Given the description of an element on the screen output the (x, y) to click on. 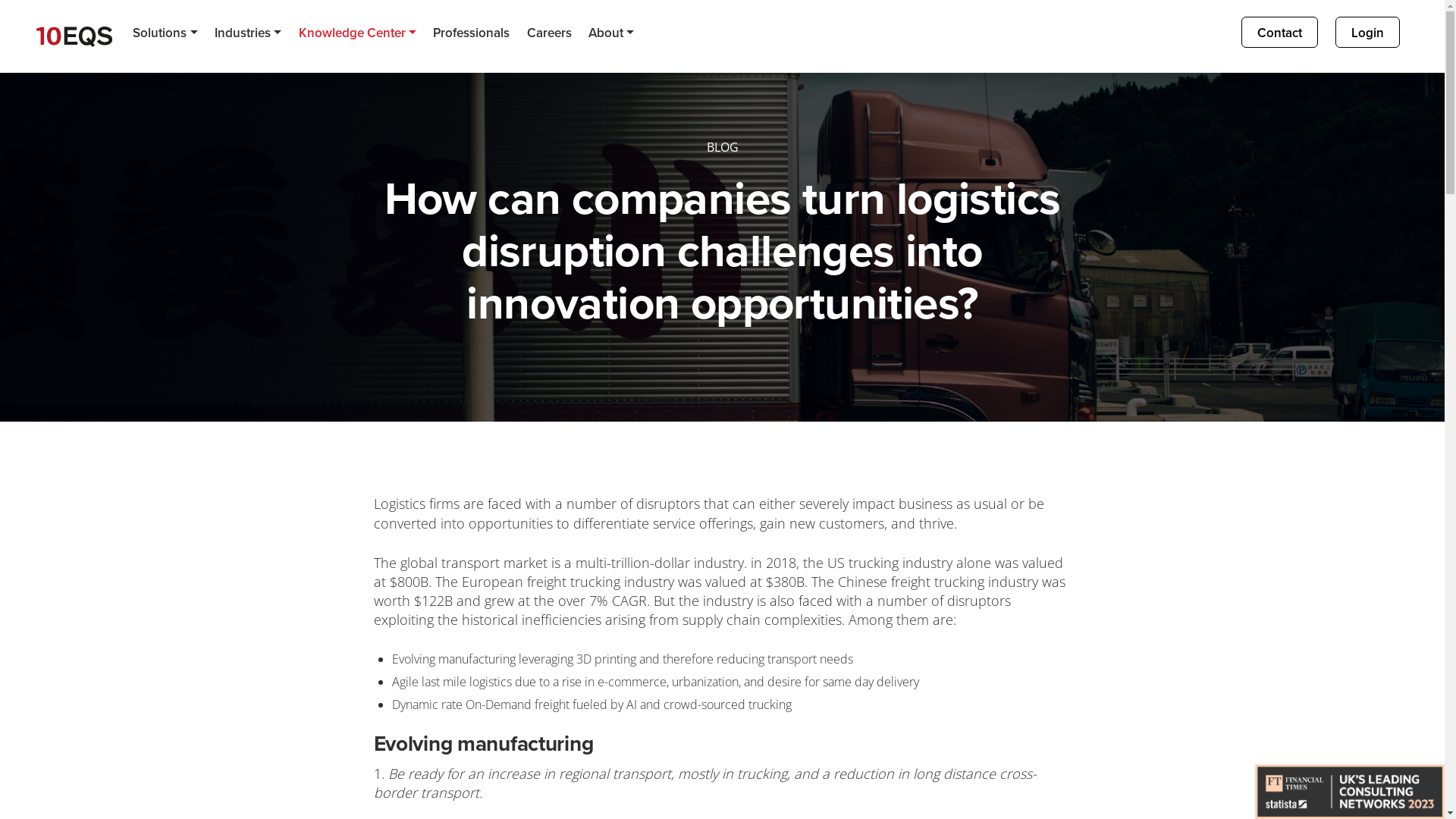
Careers Element type: text (548, 33)
Login Element type: text (1367, 31)
Professionals Element type: text (470, 33)
10EQS Element type: text (74, 36)
About Element type: text (611, 33)
Solutions Element type: text (165, 33)
Contact Element type: text (1279, 31)
Knowledge Center Element type: text (356, 33)
Industries Element type: text (248, 33)
